Given the description of an element on the screen output the (x, y) to click on. 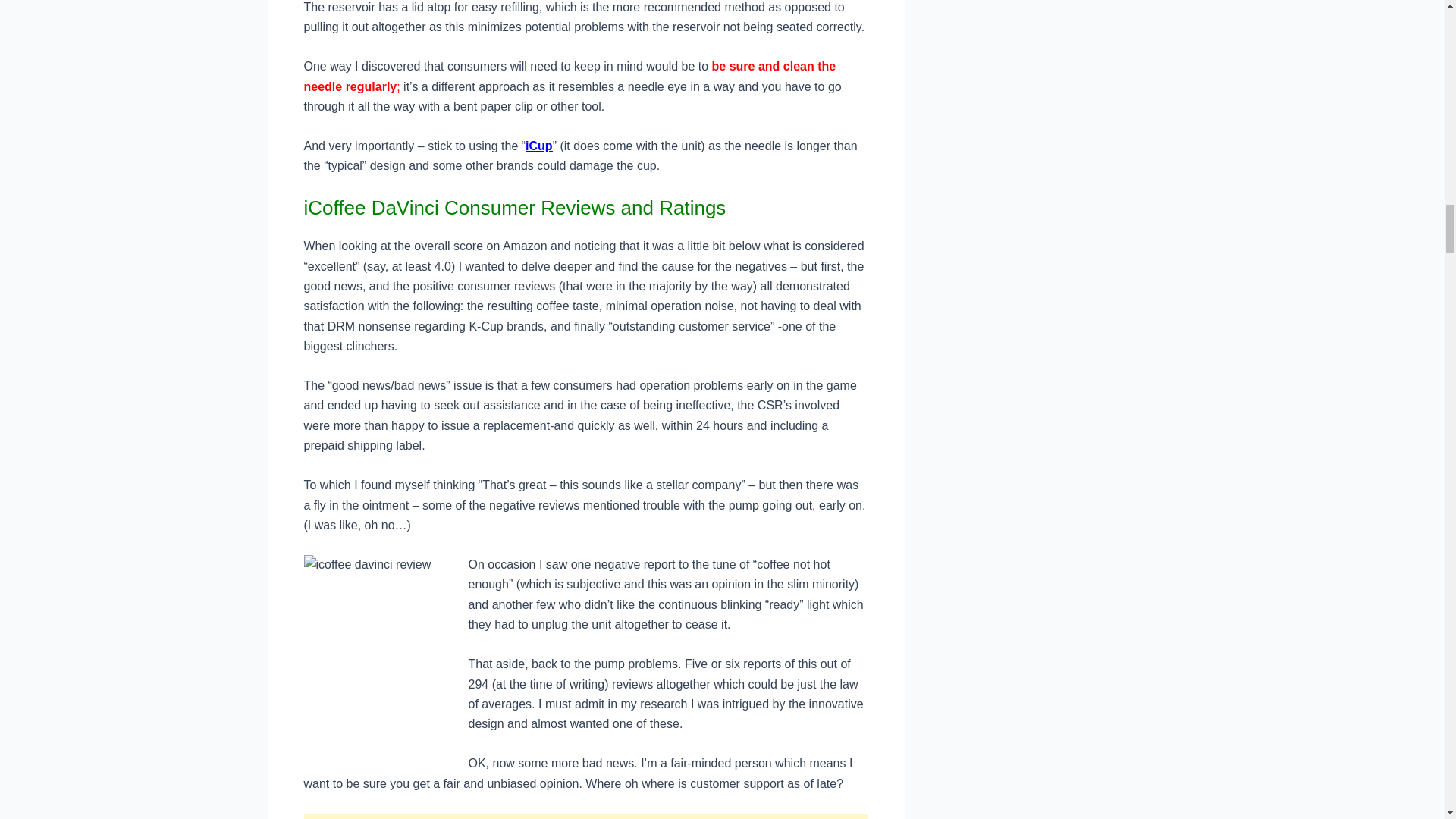
iCup (539, 145)
